Given the description of an element on the screen output the (x, y) to click on. 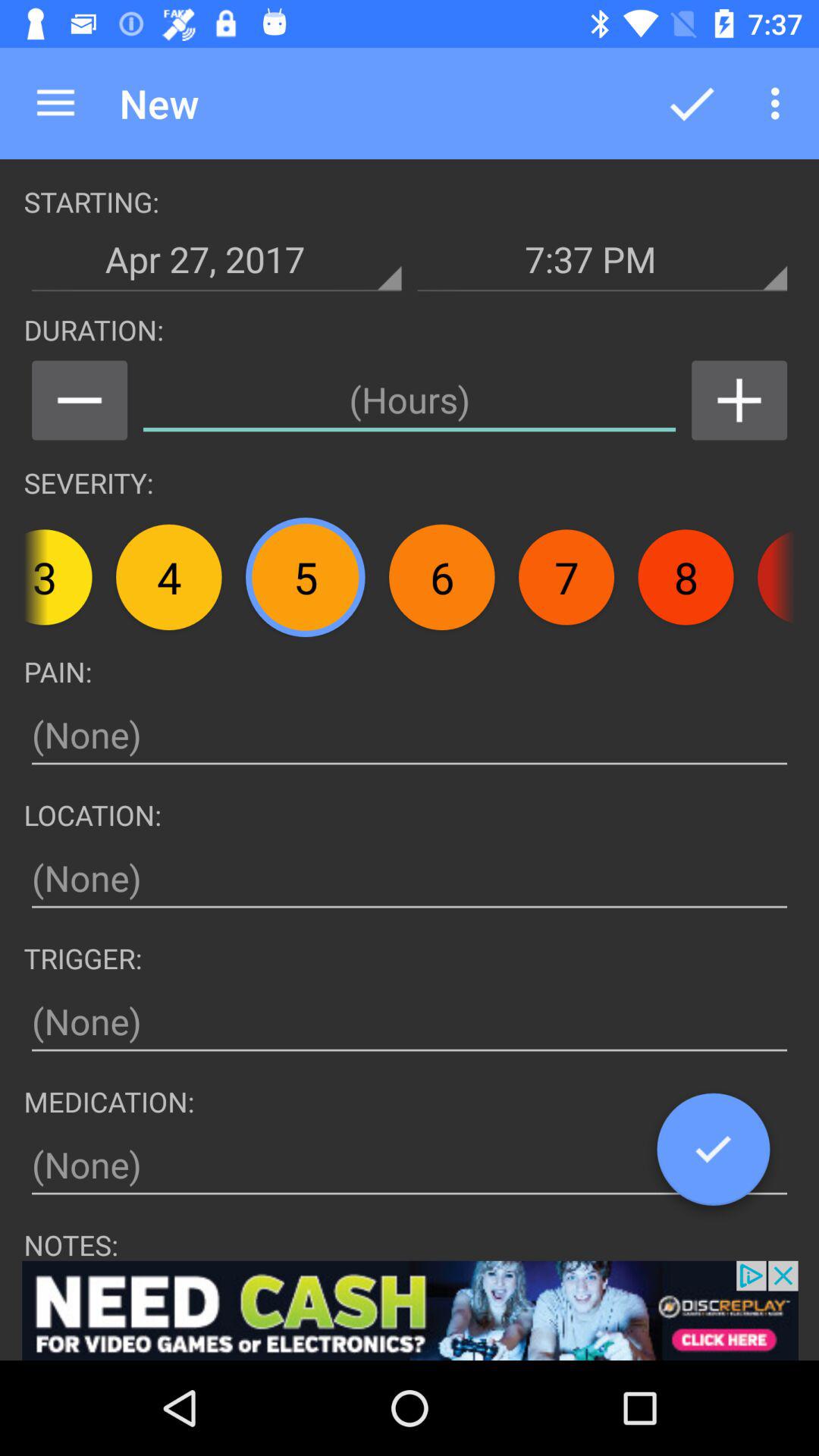
text on pain (409, 735)
